Given the description of an element on the screen output the (x, y) to click on. 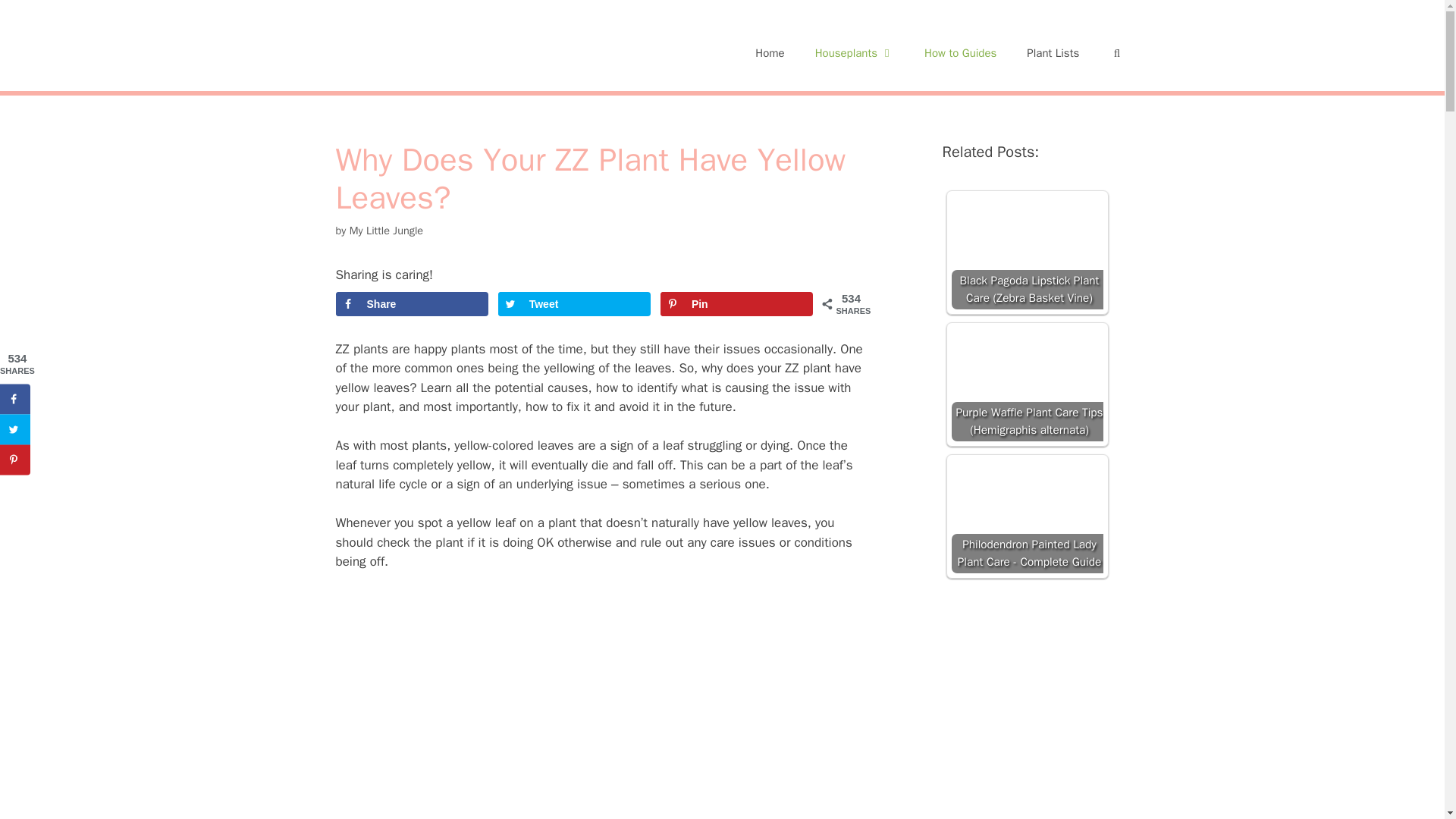
Tweet (573, 303)
My Little Jungle (386, 230)
Plant Lists (1052, 45)
Philodendron Painted Lady Plant Care - Complete Guide (1026, 516)
Share (410, 303)
Share on Twitter (573, 303)
Pin (737, 303)
View all posts by My Little Jungle (386, 230)
Search (35, 18)
Save to Pinterest (737, 303)
How to Guides (959, 45)
Houseplants (853, 45)
Home (769, 45)
Share on Facebook (410, 303)
